Given the description of an element on the screen output the (x, y) to click on. 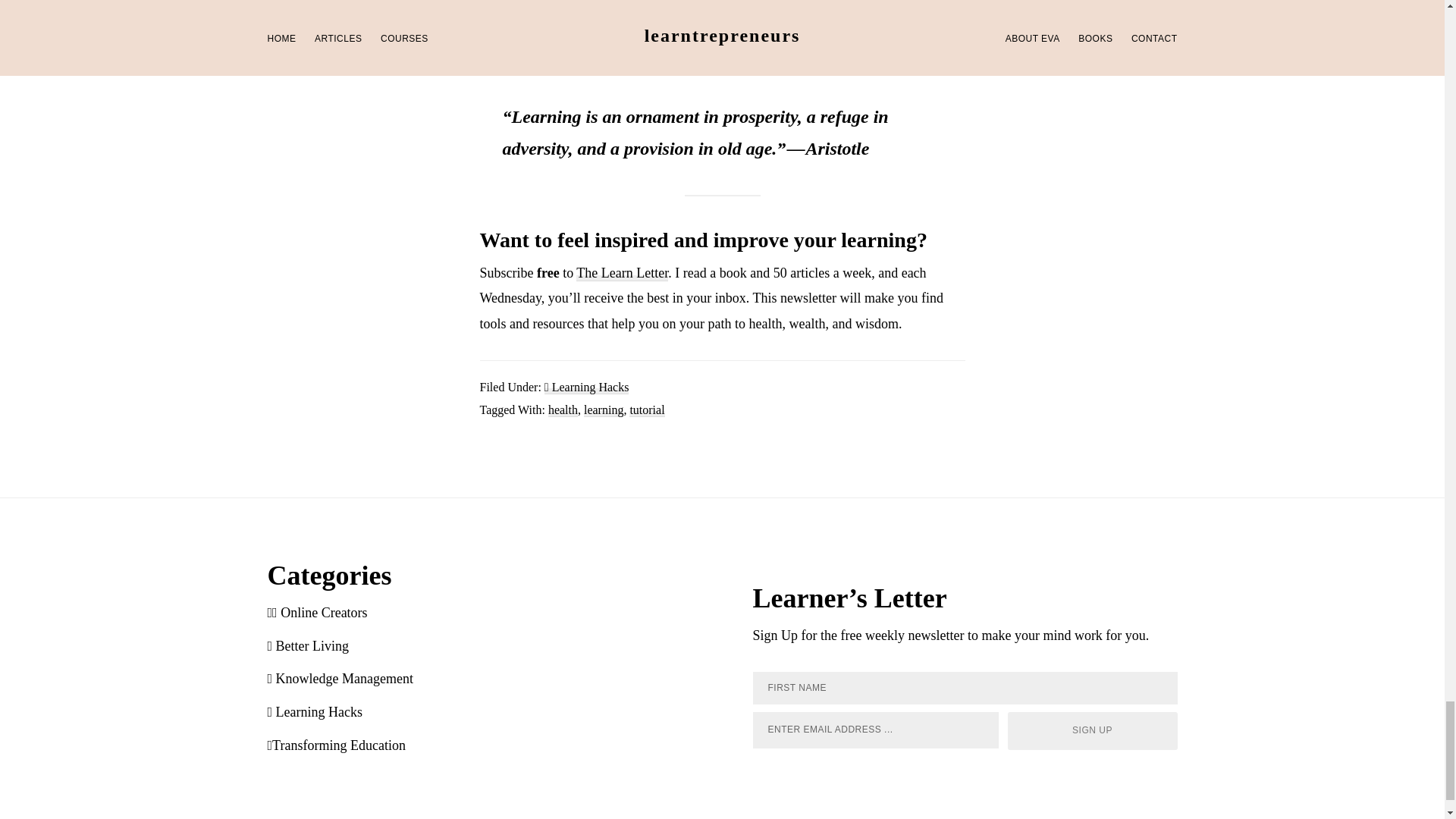
Sign Up (1091, 730)
The Learn Letter (622, 273)
health (563, 409)
